Given the description of an element on the screen output the (x, y) to click on. 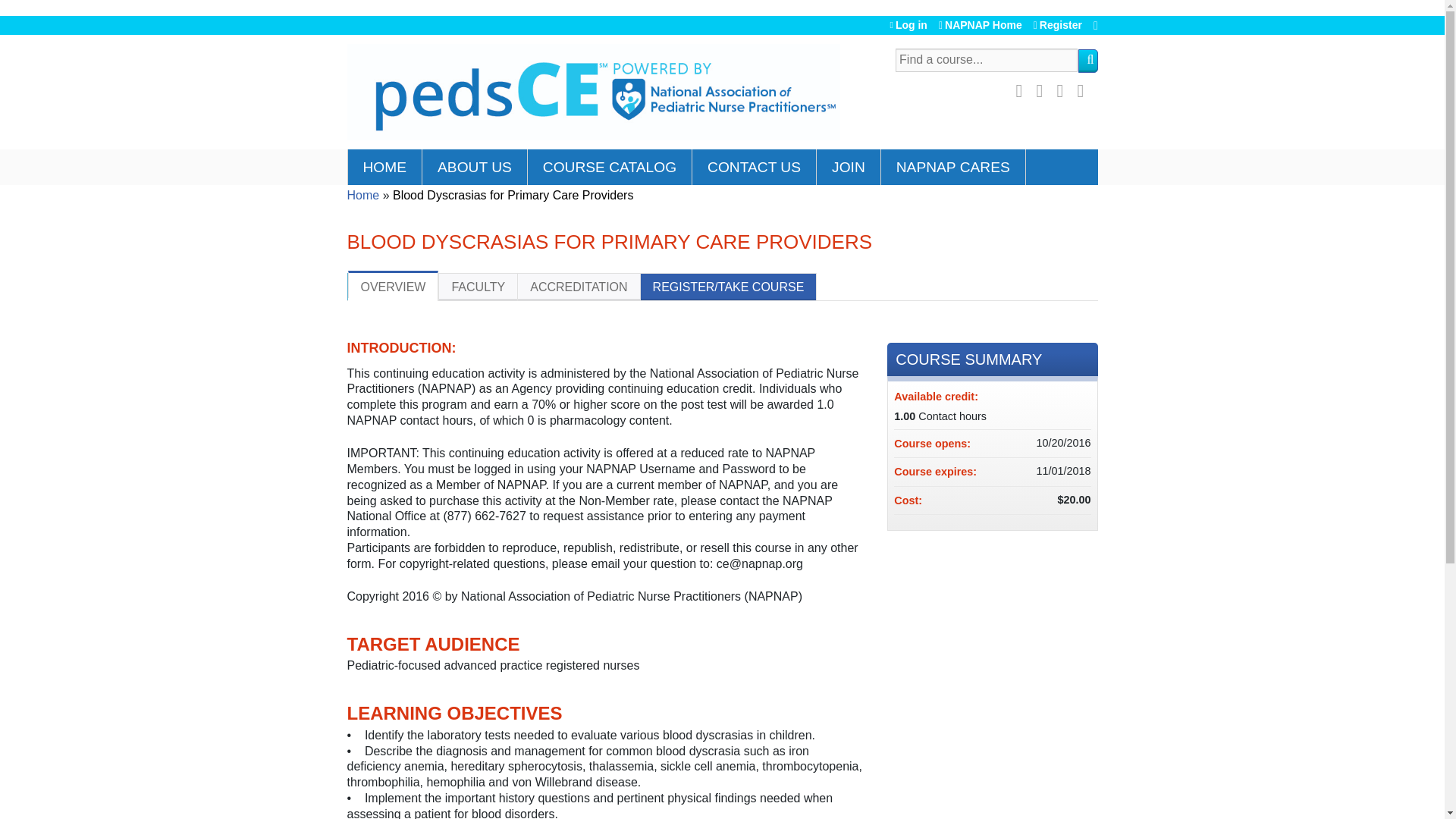
ACCREDITATION (578, 286)
FACULTY (478, 286)
Log in (908, 25)
Home (363, 195)
Home (593, 92)
OVERVIEW (392, 286)
ABOUT US (474, 167)
NAPNAP Home (980, 25)
Register (1057, 25)
Blood Dyscrasias for Primary Care Providers (513, 195)
NAPNAP CARES (953, 167)
HOME (385, 167)
COURSE CATALOG (610, 167)
JOIN (848, 167)
CONTACT US (754, 167)
